Given the description of an element on the screen output the (x, y) to click on. 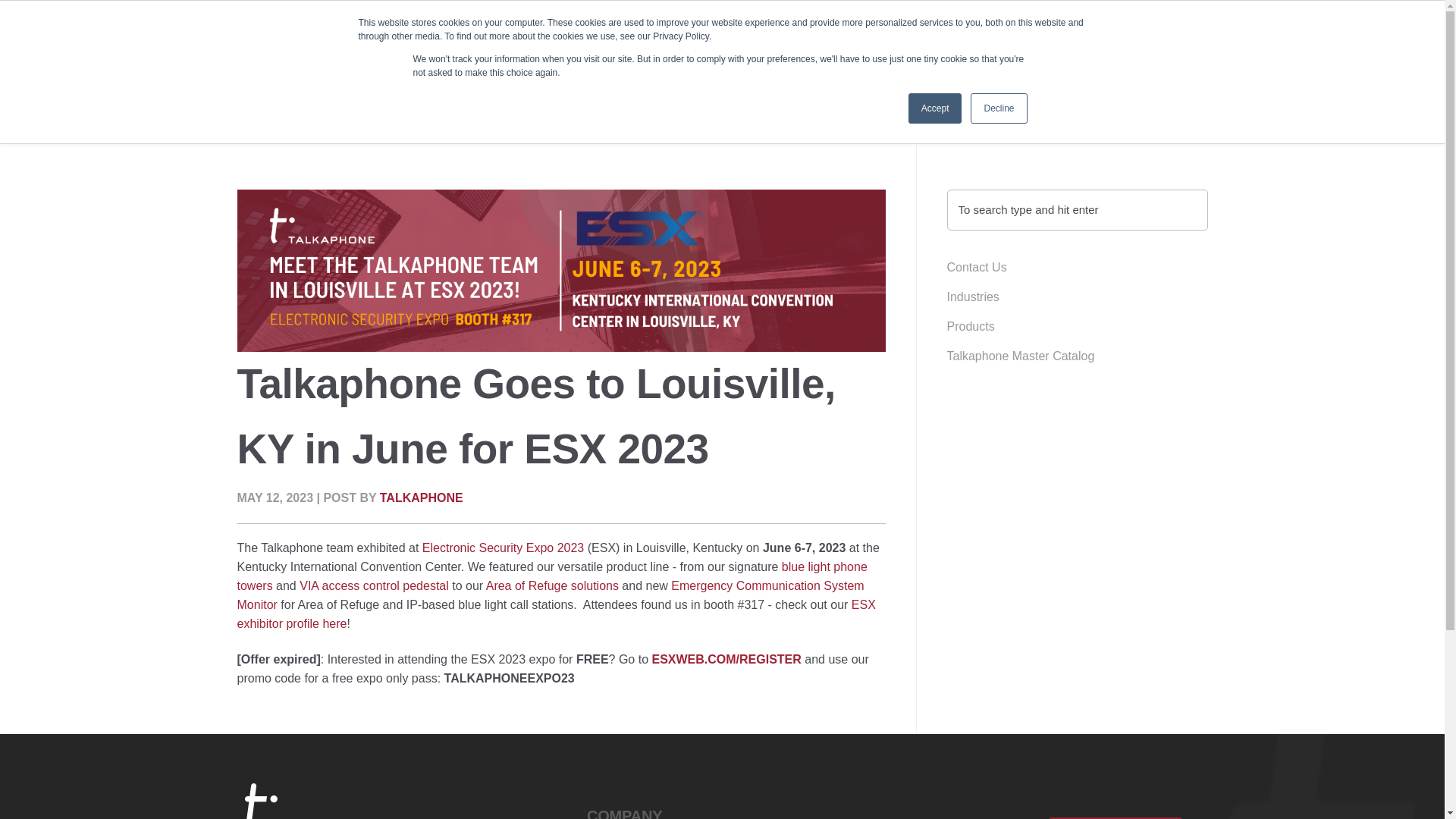
Talkaphone (312, 800)
Talkaphone (302, 40)
Decline (998, 108)
Accept (935, 108)
